Given the description of an element on the screen output the (x, y) to click on. 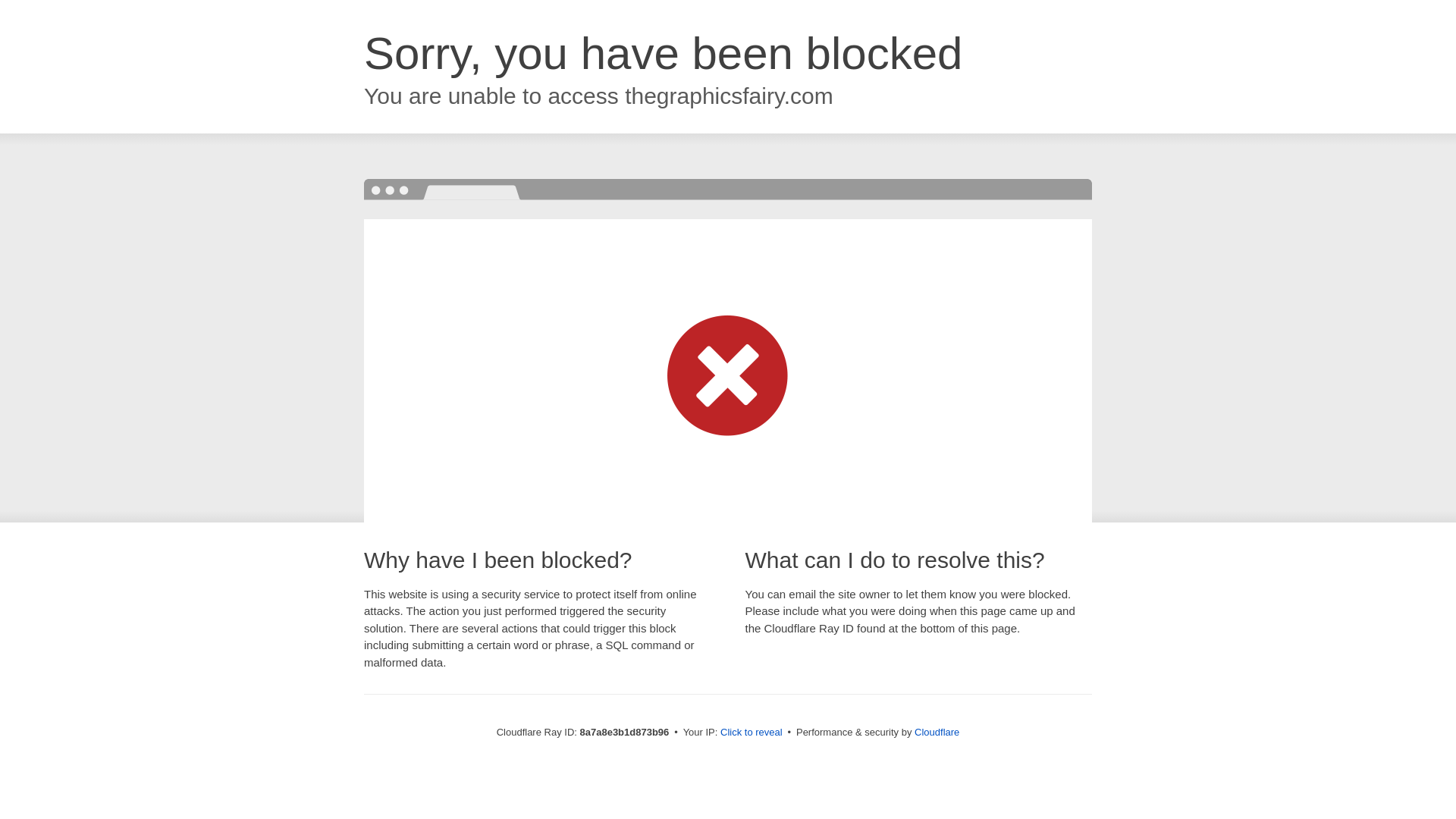
Click to reveal (751, 732)
Cloudflare (936, 731)
